Given the description of an element on the screen output the (x, y) to click on. 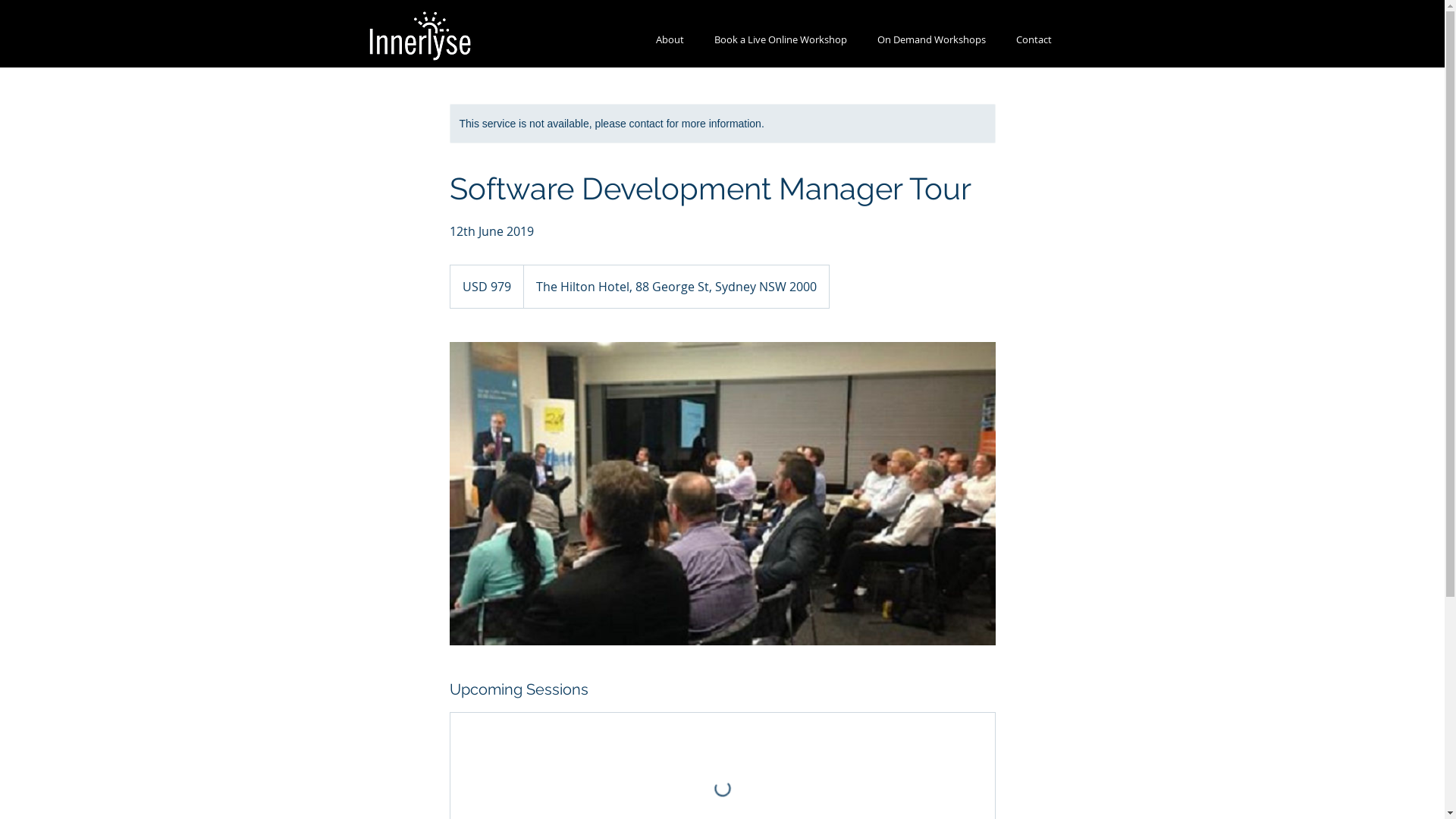
Contact Element type: text (1033, 39)
Book a Live Online Workshop Element type: text (780, 39)
About Element type: text (669, 39)
On Demand Workshops Element type: text (930, 39)
